Given the description of an element on the screen output the (x, y) to click on. 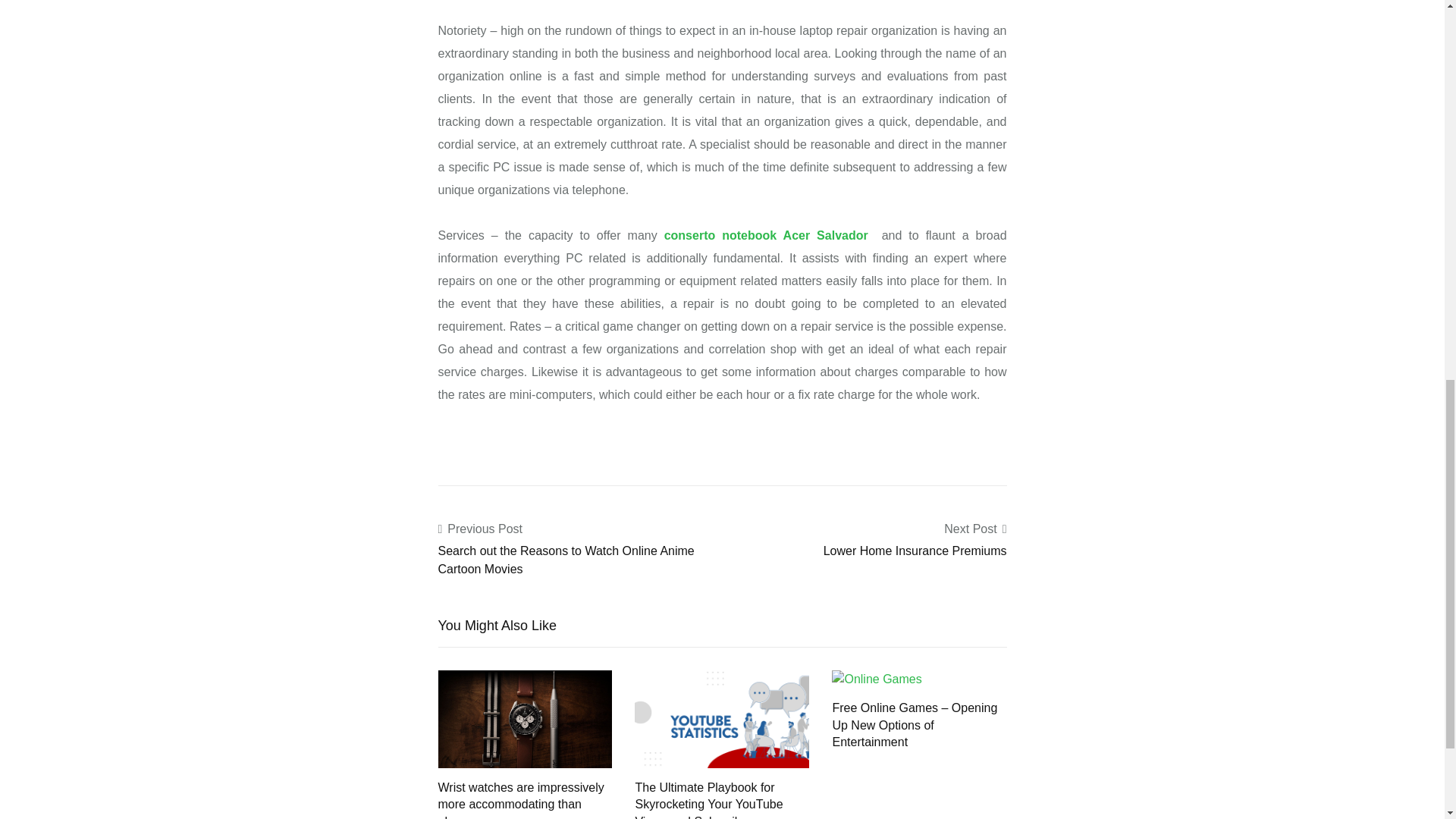
Lower Home Insurance Premiums (915, 550)
conserto notebook Acer Salvador (765, 235)
Search out the Reasons to Watch Online Anime Cartoon Movies (566, 559)
